Given the description of an element on the screen output the (x, y) to click on. 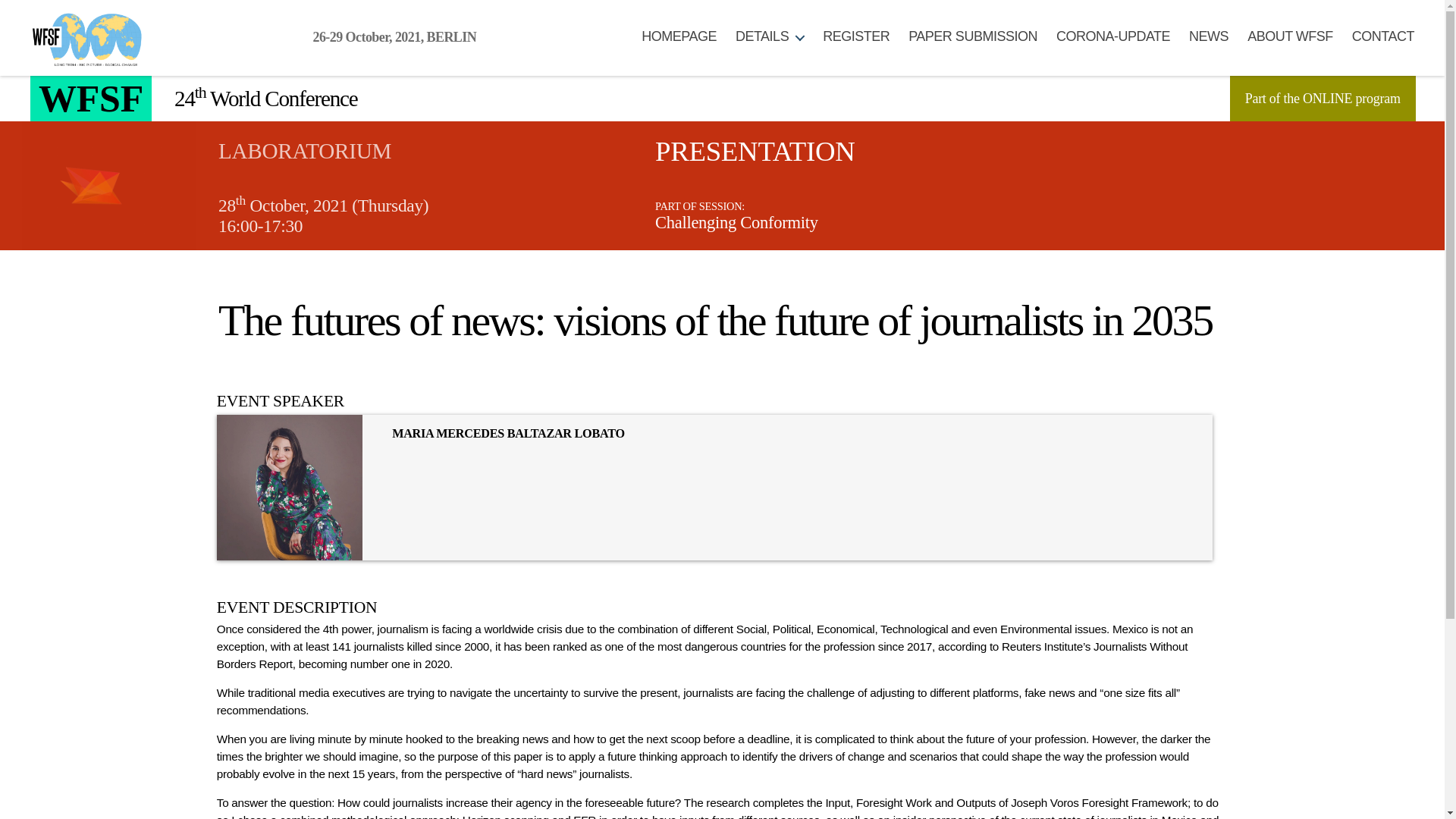
PAPER SUBMISSION (972, 36)
MARIA MERCEDES BALTAZAR LOBATO (507, 433)
ABOUT WFSF (1290, 36)
DETAILS (769, 36)
REGISTER (855, 36)
Part of the ONLINE program (1322, 98)
CONTACT (1382, 36)
HOMEPAGE (679, 36)
Challenging Conformity (736, 221)
NEWS (1208, 36)
CORONA-UPDATE (1113, 36)
